Given the description of an element on the screen output the (x, y) to click on. 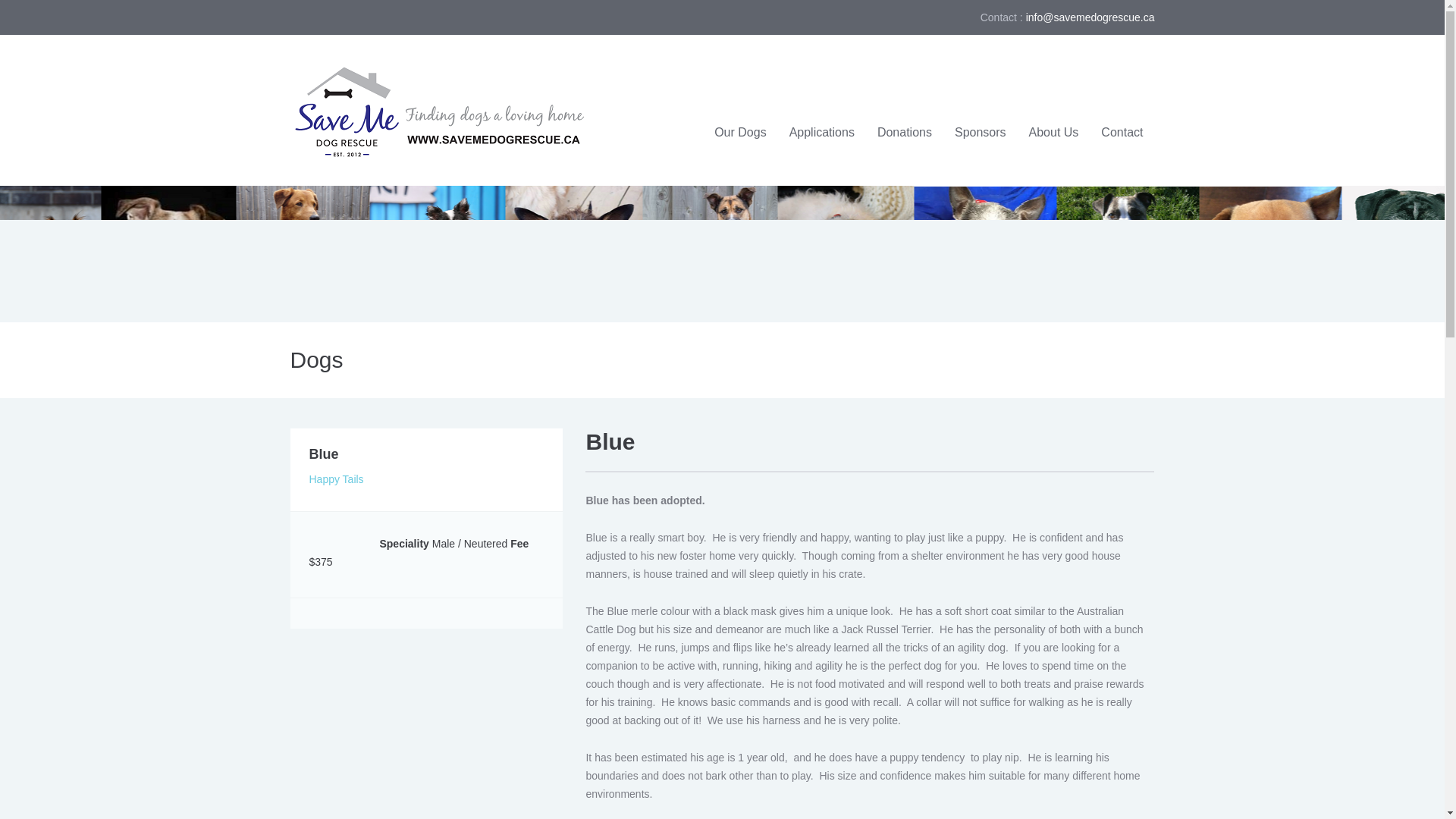
Contact (1121, 132)
About Us (1053, 132)
Our Dogs (740, 132)
Donations (904, 132)
Sponsors (980, 132)
Happy Tails (336, 479)
Applications (821, 132)
